Given the description of an element on the screen output the (x, y) to click on. 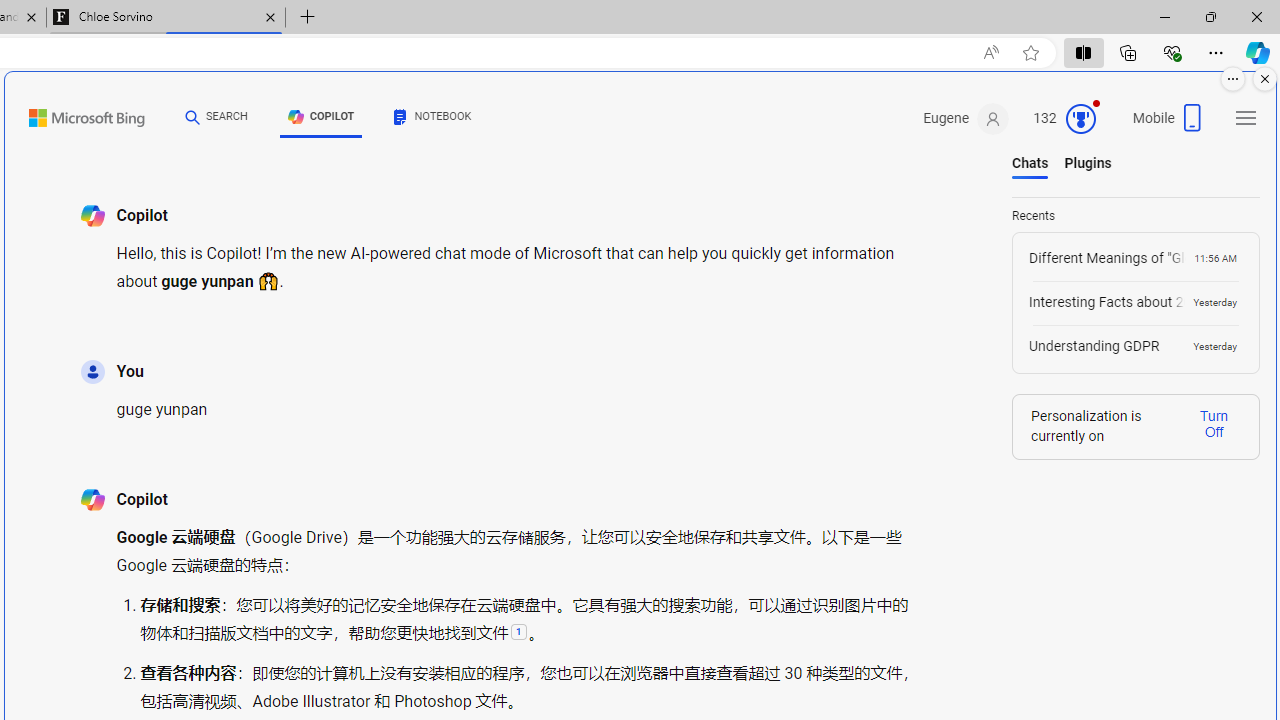
NOTEBOOK (433, 116)
Class: outer-circle-animation (1079, 118)
SEARCH (216, 116)
Turn Off (1213, 423)
COPILOT (321, 120)
Chats (1030, 163)
Mobile (1169, 124)
Class: medal-svg-animation (1079, 118)
